Given the description of an element on the screen output the (x, y) to click on. 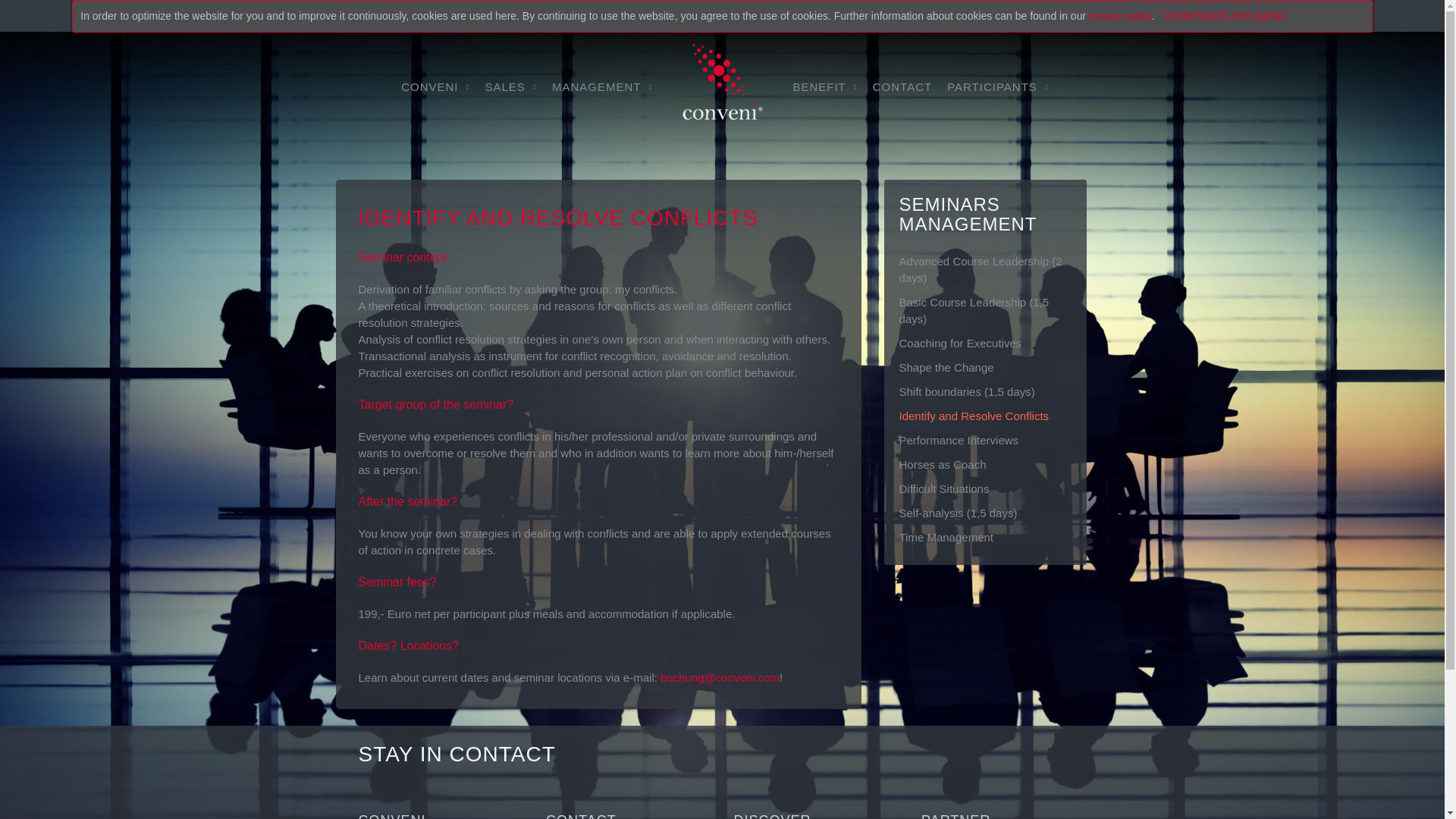
EN (1050, 15)
CONTACT (901, 85)
BENEFIT (824, 85)
Horses as Coach (984, 464)
DE (1075, 15)
Difficult Situations (984, 488)
MANAGEMENT (602, 85)
privacy policy (1120, 15)
Shape the Change (984, 367)
